Given the description of an element on the screen output the (x, y) to click on. 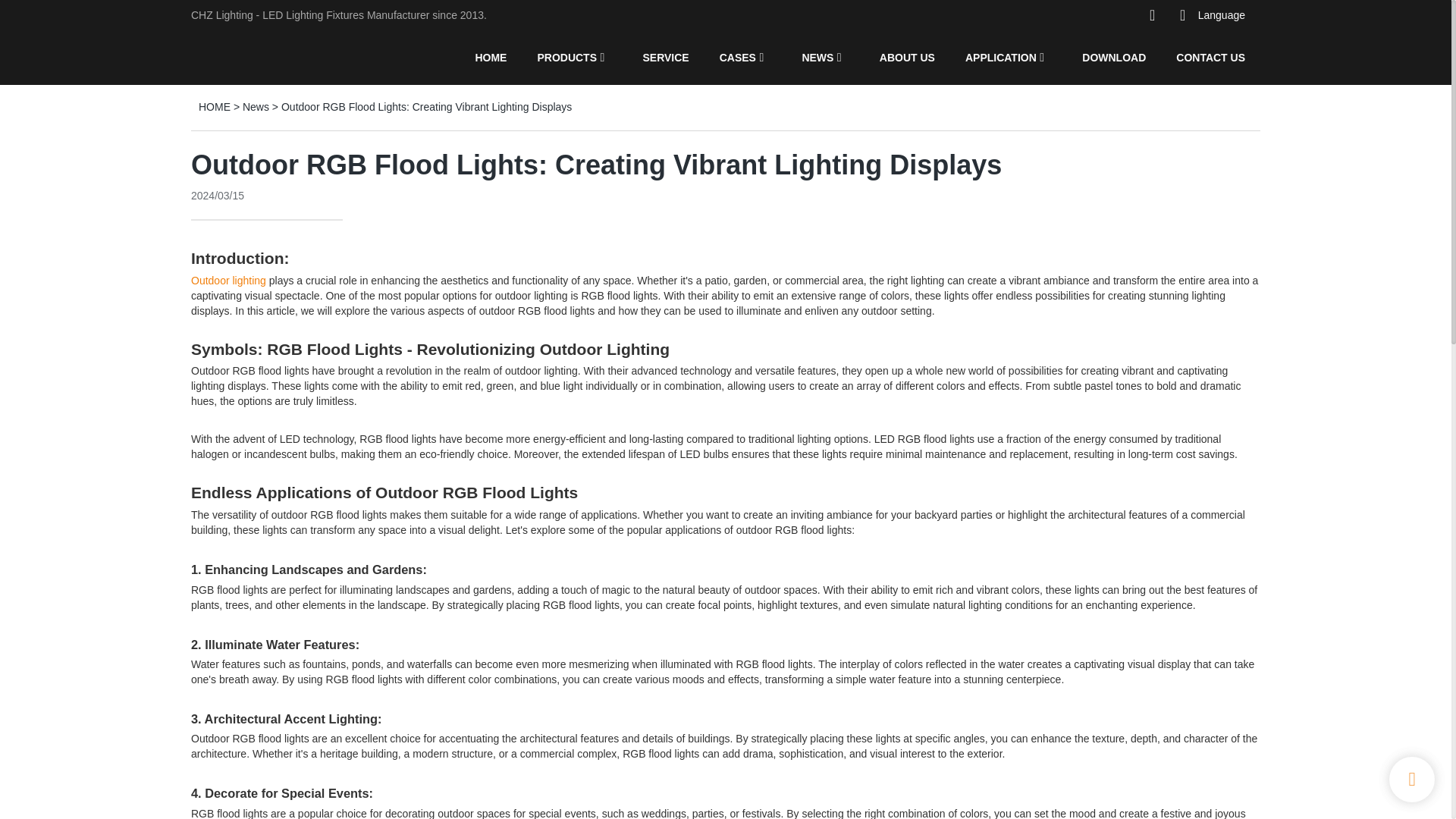
APPLICATION (1000, 57)
Outdoor lighting (228, 280)
NEWS (817, 57)
DOWNLOAD (1113, 57)
ABOUT US (906, 57)
News (256, 106)
CASES (737, 57)
CONTACT US (1210, 57)
HOME (490, 57)
Outdoor lighting (228, 280)
